Given the description of an element on the screen output the (x, y) to click on. 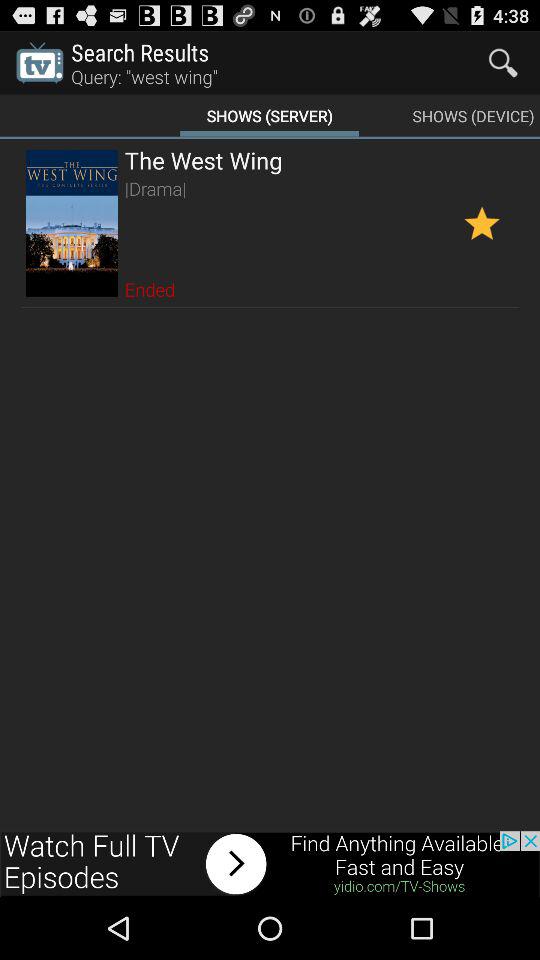
toggle favorite option (481, 222)
